Given the description of an element on the screen output the (x, y) to click on. 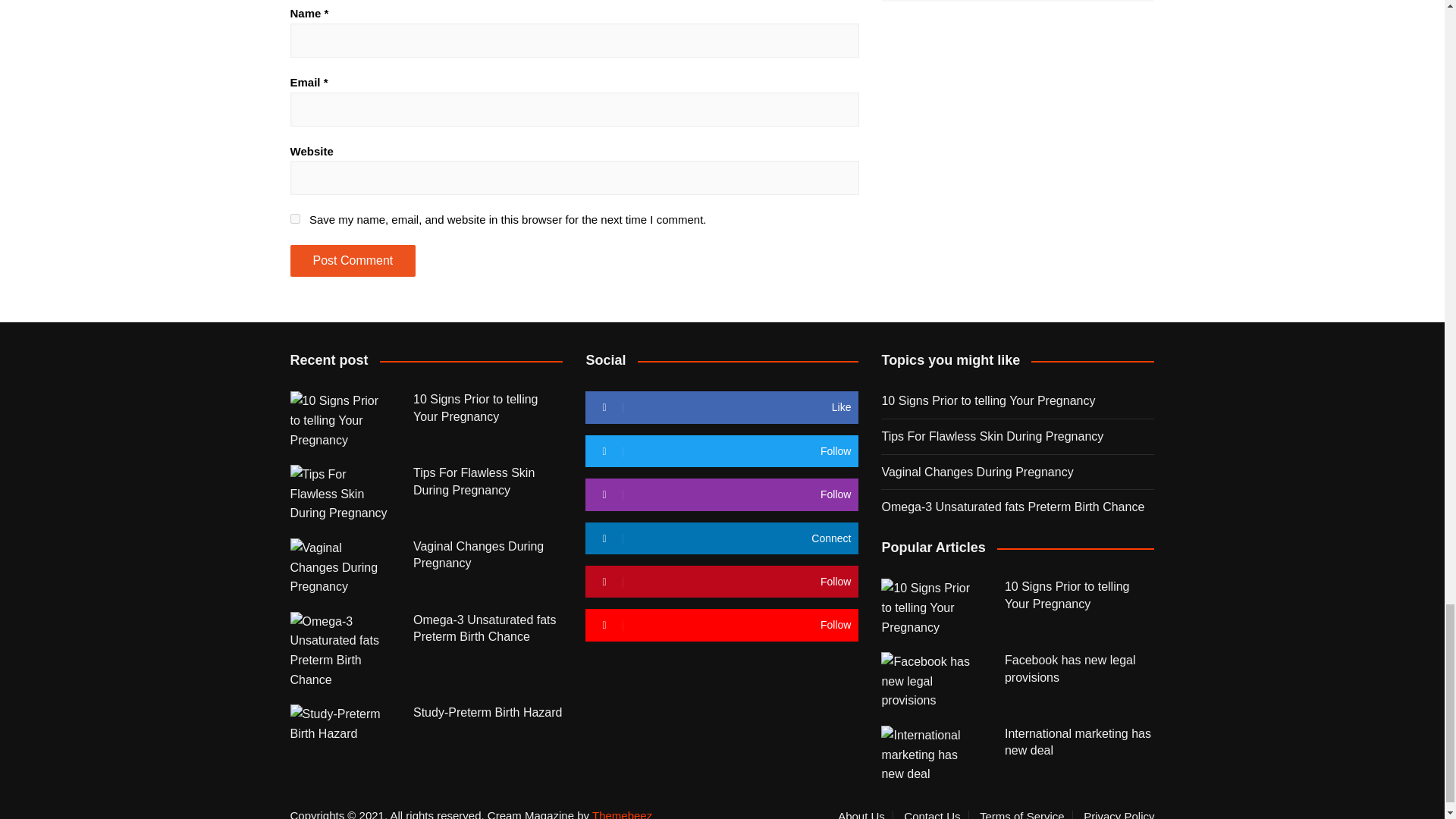
Post Comment (351, 260)
Tips For Flawless Skin During Pregnancy (339, 494)
Omega-3 Unsaturated fats Preterm Birth Chance (339, 650)
10 Signs Prior to telling Your Pregnancy (339, 420)
10 Signs Prior to telling Your Pregnancy (930, 607)
yes (294, 218)
Study-Preterm Birth Hazard (339, 723)
Vaginal Changes During Pregnancy (339, 567)
